Given the description of an element on the screen output the (x, y) to click on. 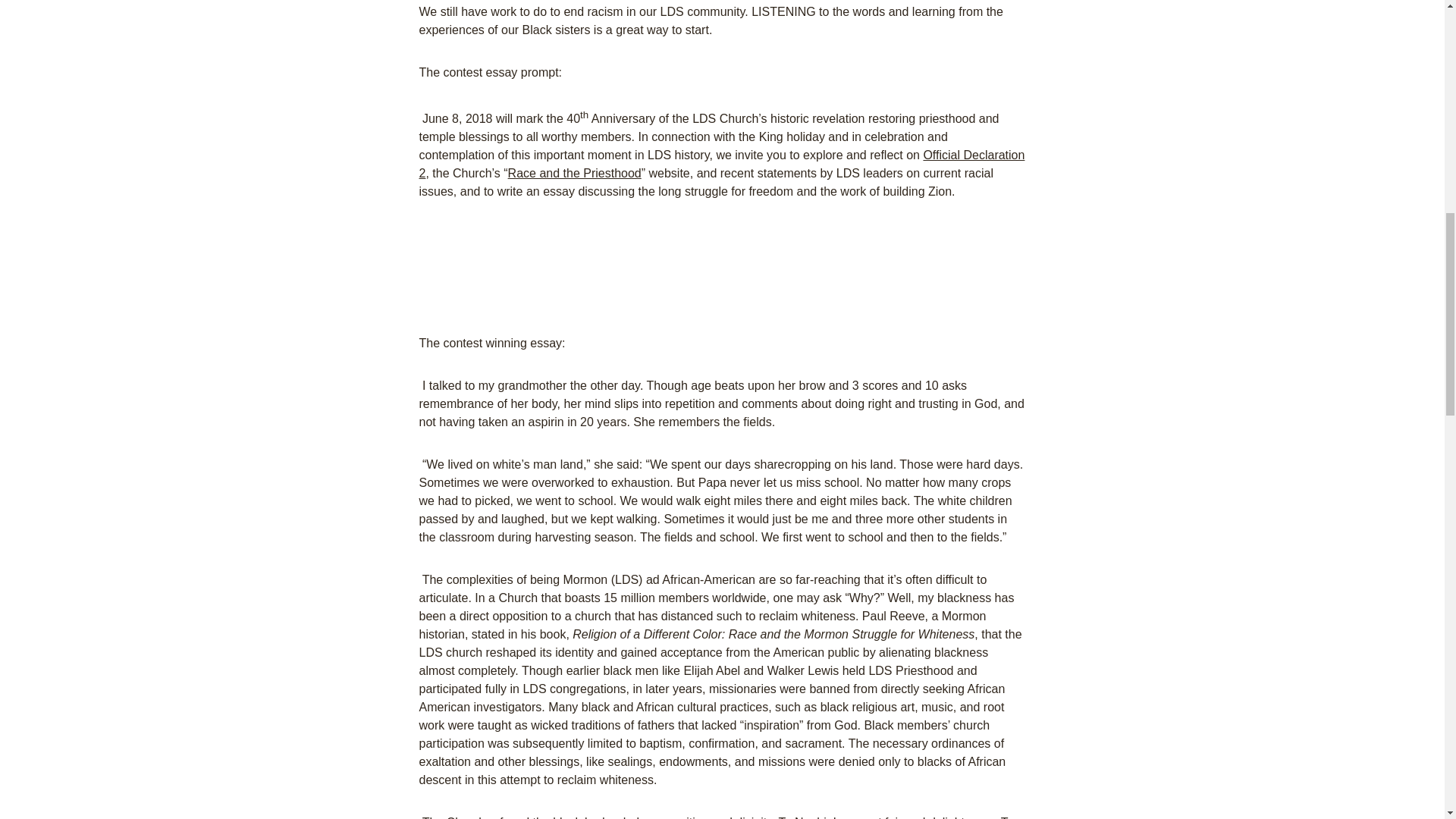
Race and the Priesthood (575, 173)
Official Declaration 2 (722, 163)
